Given the description of an element on the screen output the (x, y) to click on. 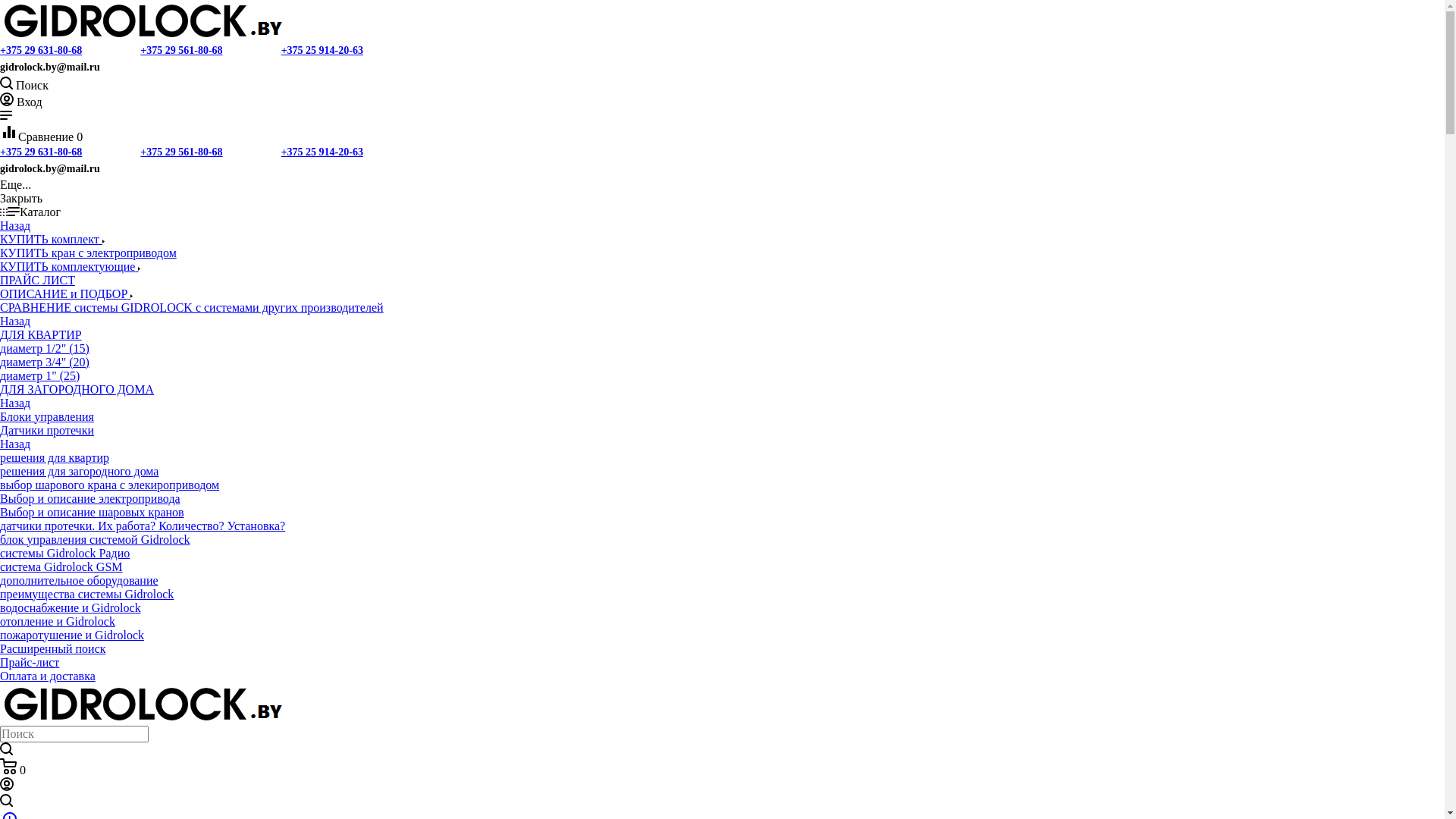
+375 29 561-80-68 Element type: text (181, 151)
+375 29 631-80-68 Element type: text (40, 151)
+375 25 914-20-63 Element type: text (322, 50)
Gidrolock.by Element type: hover (143, 21)
+375 29 631-80-68 Element type: text (40, 50)
+375 25 914-20-63 Element type: text (322, 151)
Gidrolock.by Element type: hover (143, 704)
+375 29 561-80-68 Element type: text (181, 50)
